Given the description of an element on the screen output the (x, y) to click on. 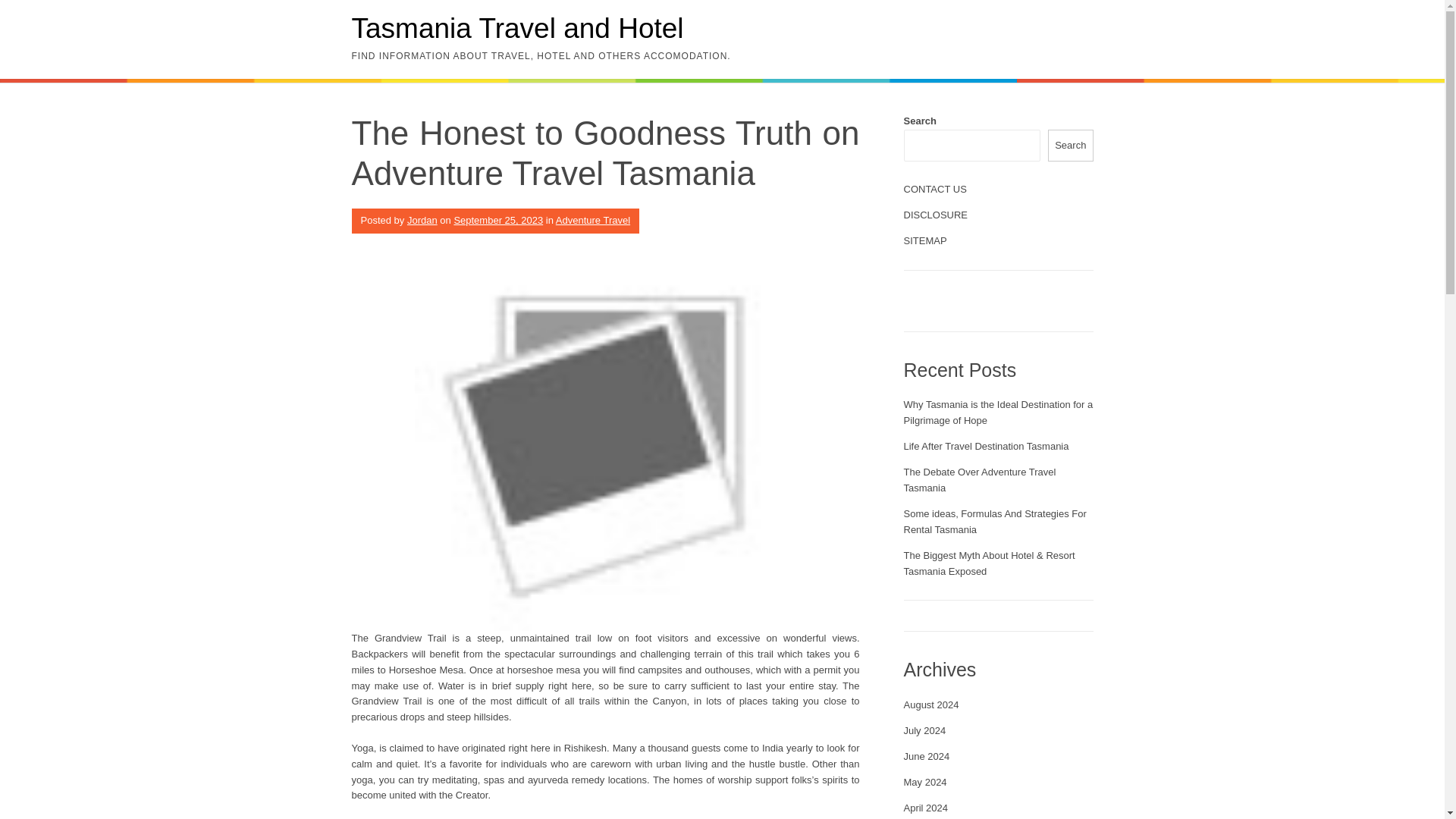
Adventure Travel (593, 220)
June 2024 (927, 756)
CONTACT US (935, 188)
DISCLOSURE (936, 214)
Some ideas, Formulas And Strategies For Rental Tasmania (995, 521)
August 2024 (931, 704)
September 25, 2023 (497, 220)
May 2024 (925, 781)
Tasmania Travel and Hotel (518, 28)
Jordan (422, 220)
